Given the description of an element on the screen output the (x, y) to click on. 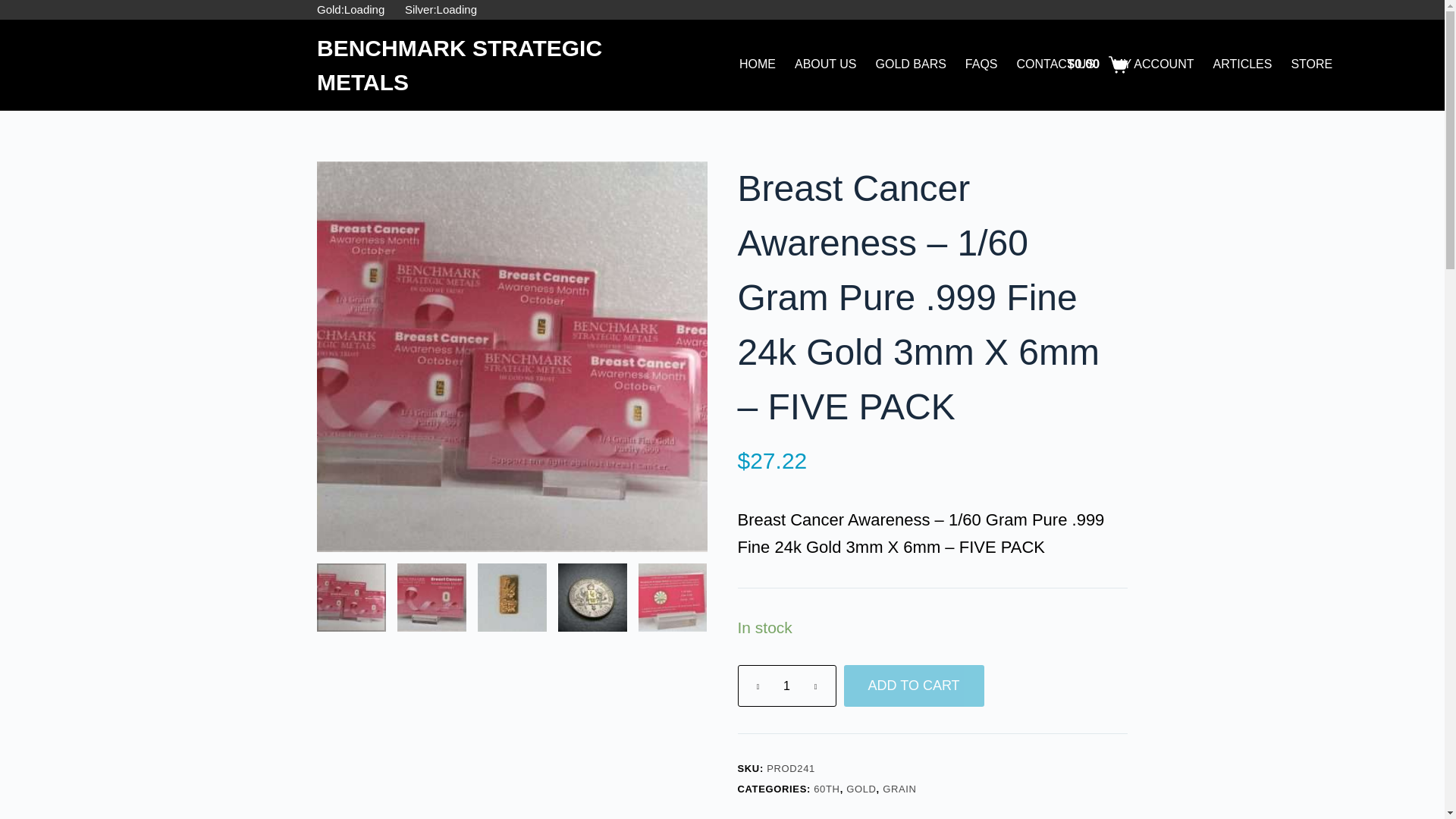
closeup.jpg (512, 596)
MY ACCOUNT (1153, 64)
60TH (826, 788)
Skip to content (15, 7)
ARTICLES (1242, 64)
5 pack (351, 596)
FAQS (981, 64)
1 (785, 685)
BENCHMARK STRATEGIC METALS (459, 64)
GRAIN (898, 788)
scale (592, 596)
ABOUT US (826, 64)
CONTACT US (1055, 64)
GOLD BARS (910, 64)
